Given the description of an element on the screen output the (x, y) to click on. 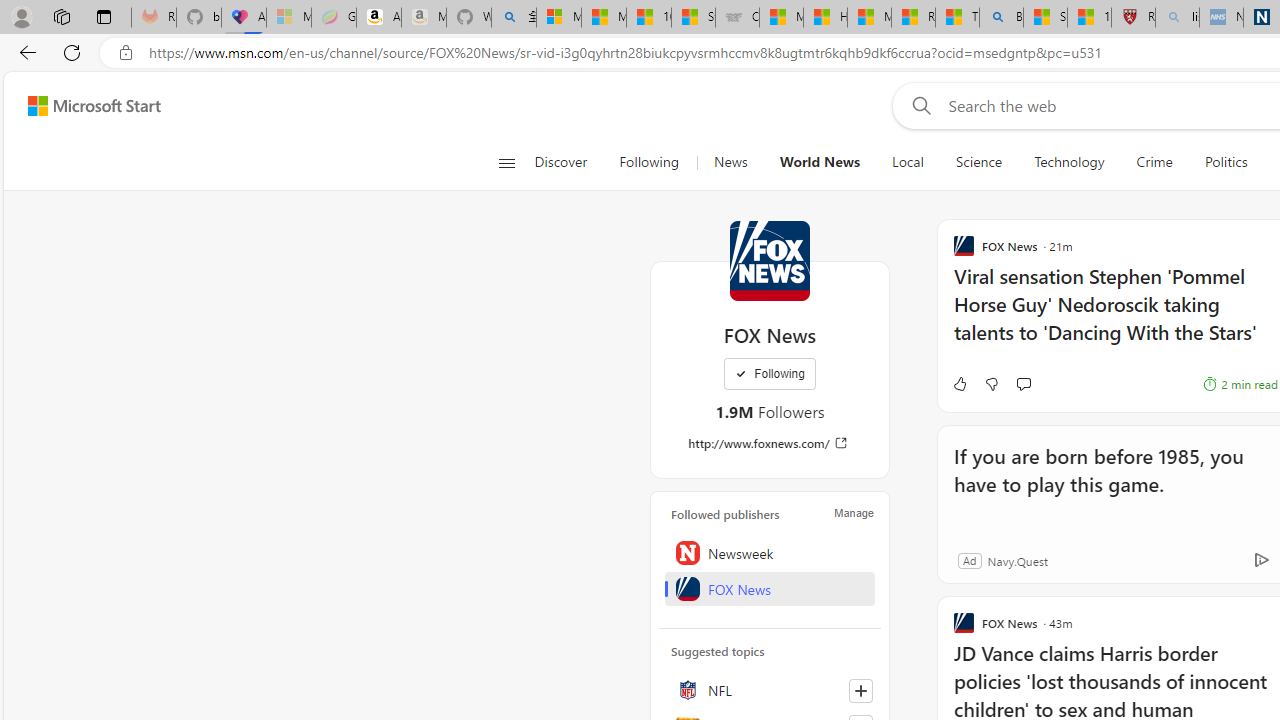
NFL (770, 690)
If you are born before 1985, you have to play this game. (1108, 484)
FOX News (770, 588)
